Given the description of an element on the screen output the (x, y) to click on. 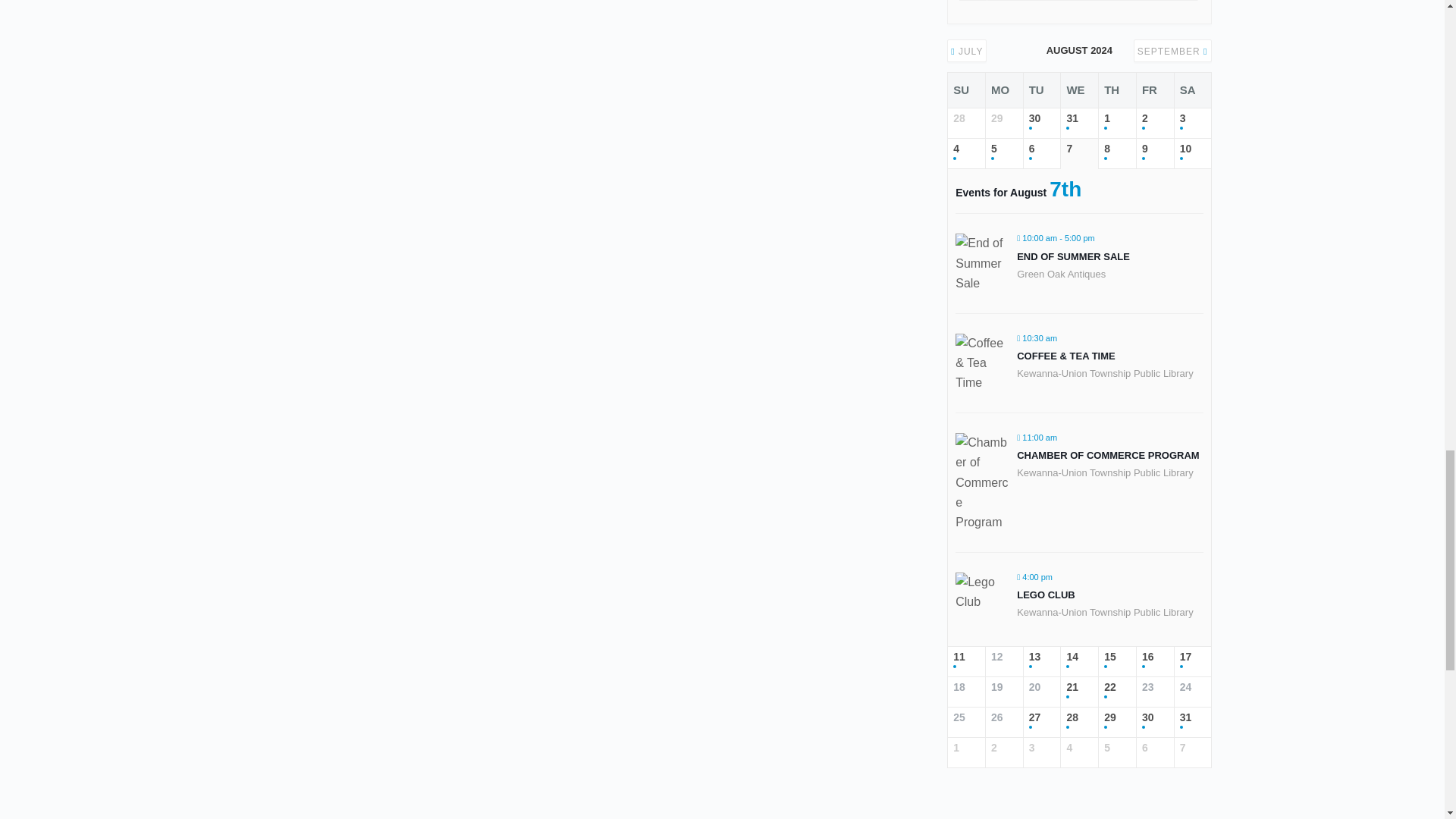
JULY (966, 50)
SEPTEMBER (1172, 50)
30 (1042, 123)
